Given the description of an element on the screen output the (x, y) to click on. 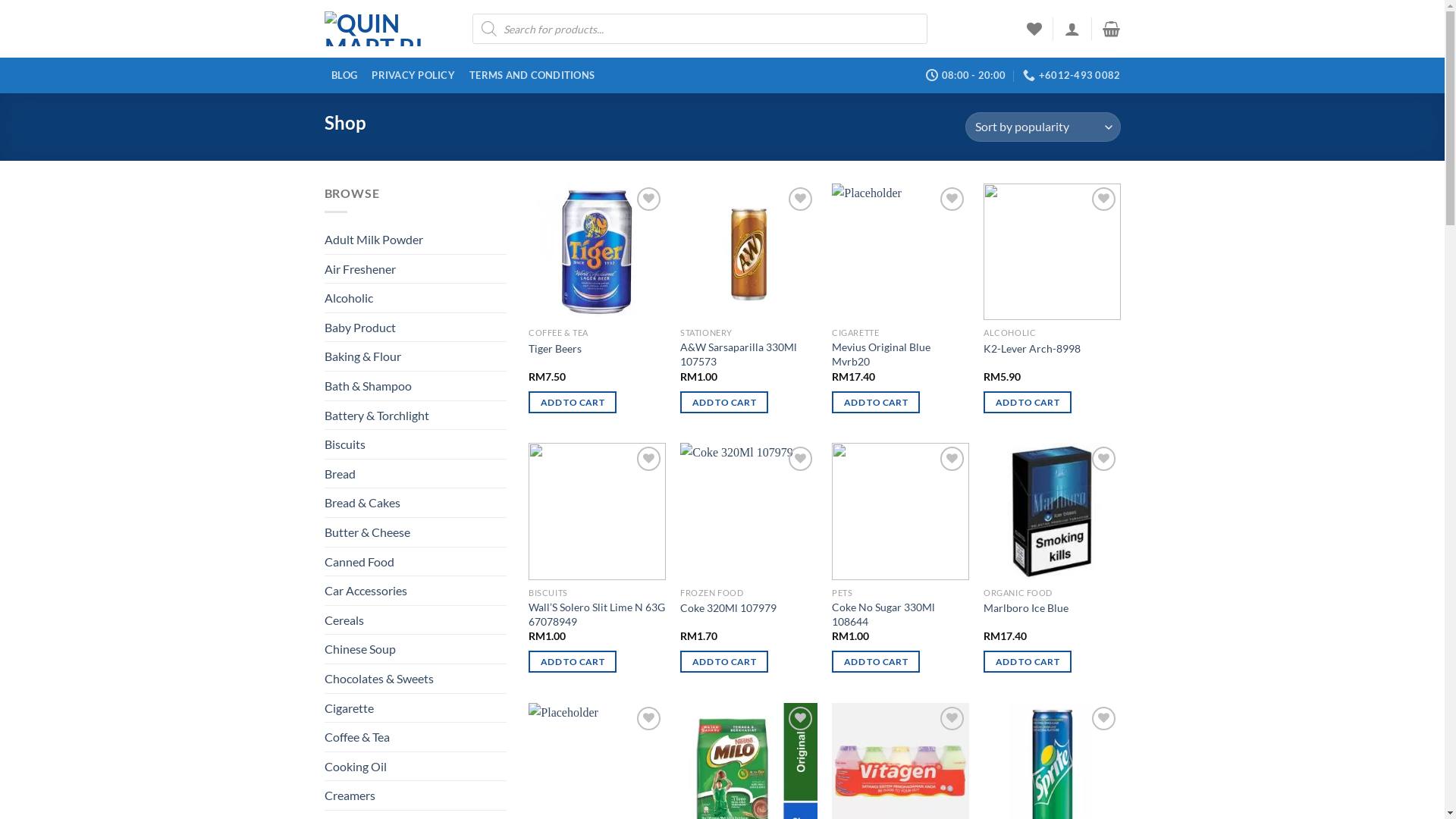
ADD TO CART Element type: text (723, 661)
Mevius Original Blue Mvrb20 Element type: text (899, 354)
Baby Product Element type: text (415, 327)
Cigarette Element type: text (415, 707)
PRIVACY POLICY Element type: text (413, 75)
Coke No Sugar 330Ml 108644 Element type: text (899, 614)
Bread & Cakes Element type: text (415, 502)
Marlboro Ice Blue Element type: text (1025, 608)
Chocolates & Sweets Element type: text (415, 678)
Coke 320Ml 107979 Element type: text (728, 608)
Creamers Element type: text (415, 795)
Bath & Shampoo Element type: text (415, 385)
Cart Element type: hover (1111, 28)
A&W Sarsaparilla 330Ml 107573 Element type: text (748, 354)
Car Accessories Element type: text (415, 590)
ADD TO CART Element type: text (1026, 402)
ADD TO CART Element type: text (875, 402)
ADD TO CART Element type: text (571, 661)
K2-Lever Arch-8998 Element type: text (1031, 349)
08:00 - 20:00 Element type: text (965, 74)
Cooking Oil Element type: text (415, 766)
Alcoholic Element type: text (415, 297)
Butter & Cheese Element type: text (415, 531)
Adult Milk Powder Element type: text (415, 239)
Coffee & Tea Element type: text (415, 736)
BLOG Element type: text (344, 75)
Baking & Flour Element type: text (415, 356)
ADD TO CART Element type: text (875, 661)
Chinese Soup Element type: text (415, 648)
Cereals Element type: text (415, 619)
ADD TO CART Element type: text (1026, 661)
+6012-493 0082 Element type: text (1071, 74)
Bread Element type: text (415, 473)
Tiger Beers Element type: text (554, 349)
Biscuits Element type: text (415, 443)
ADD TO CART Element type: text (571, 402)
Canned Food Element type: text (415, 561)
Air Freshener Element type: text (415, 268)
ADD TO CART Element type: text (723, 402)
Battery & Torchlight Element type: text (415, 415)
TERMS AND CONDITIONS Element type: text (532, 75)
